Given the description of an element on the screen output the (x, y) to click on. 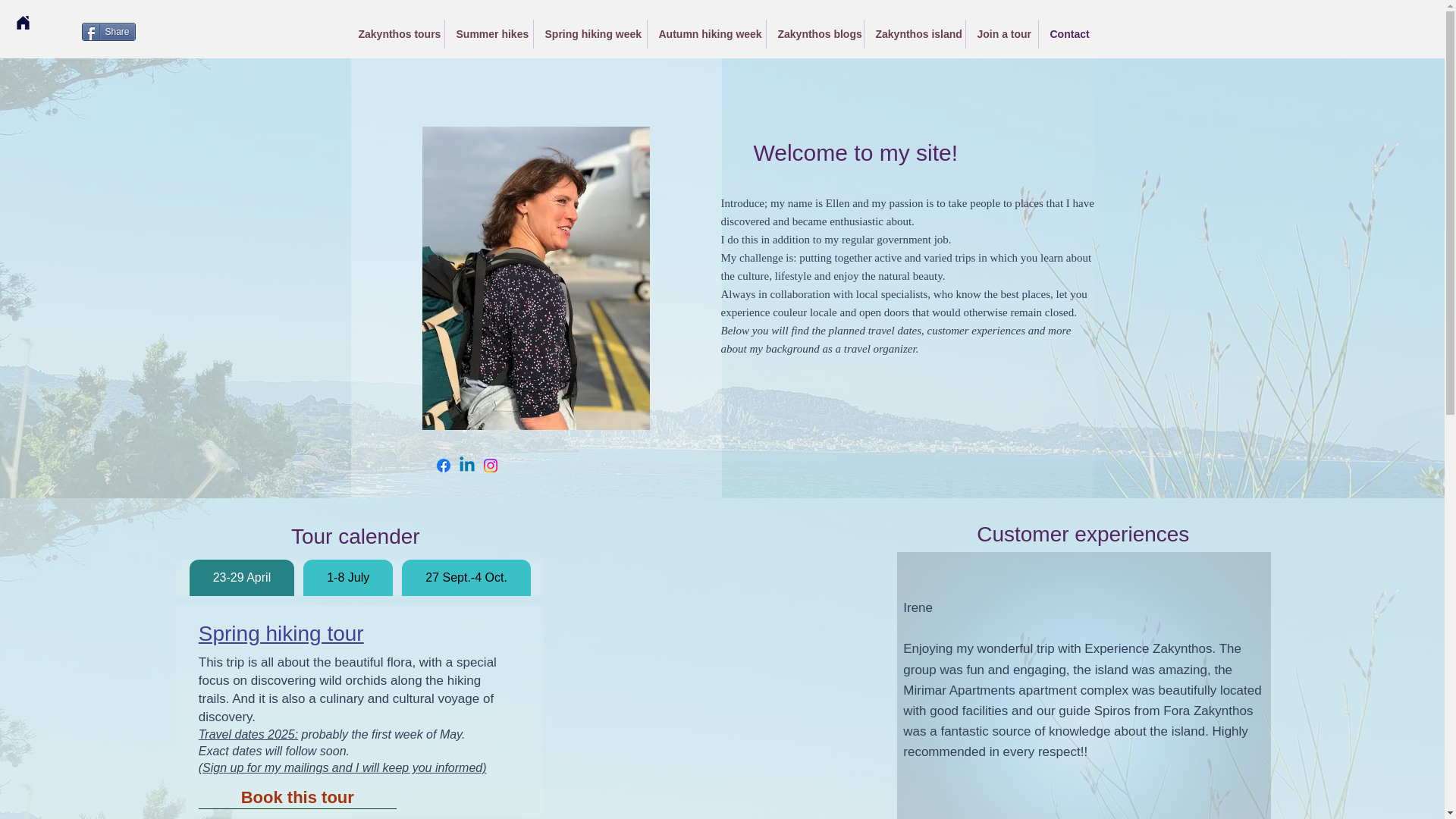
Book this tour (297, 798)
Autumn hiking week (706, 33)
Summer hikes (488, 33)
back to Home page (22, 23)
Spring hiking week (590, 33)
Twitter Tweet (187, 29)
Share (108, 31)
Share (108, 31)
Zakynthos tours (395, 33)
Join a tour (1002, 33)
Zakynthos island (914, 33)
Contact (1068, 33)
Zakynthos blogs (814, 33)
Spring hiking tour (281, 633)
